Given the description of an element on the screen output the (x, y) to click on. 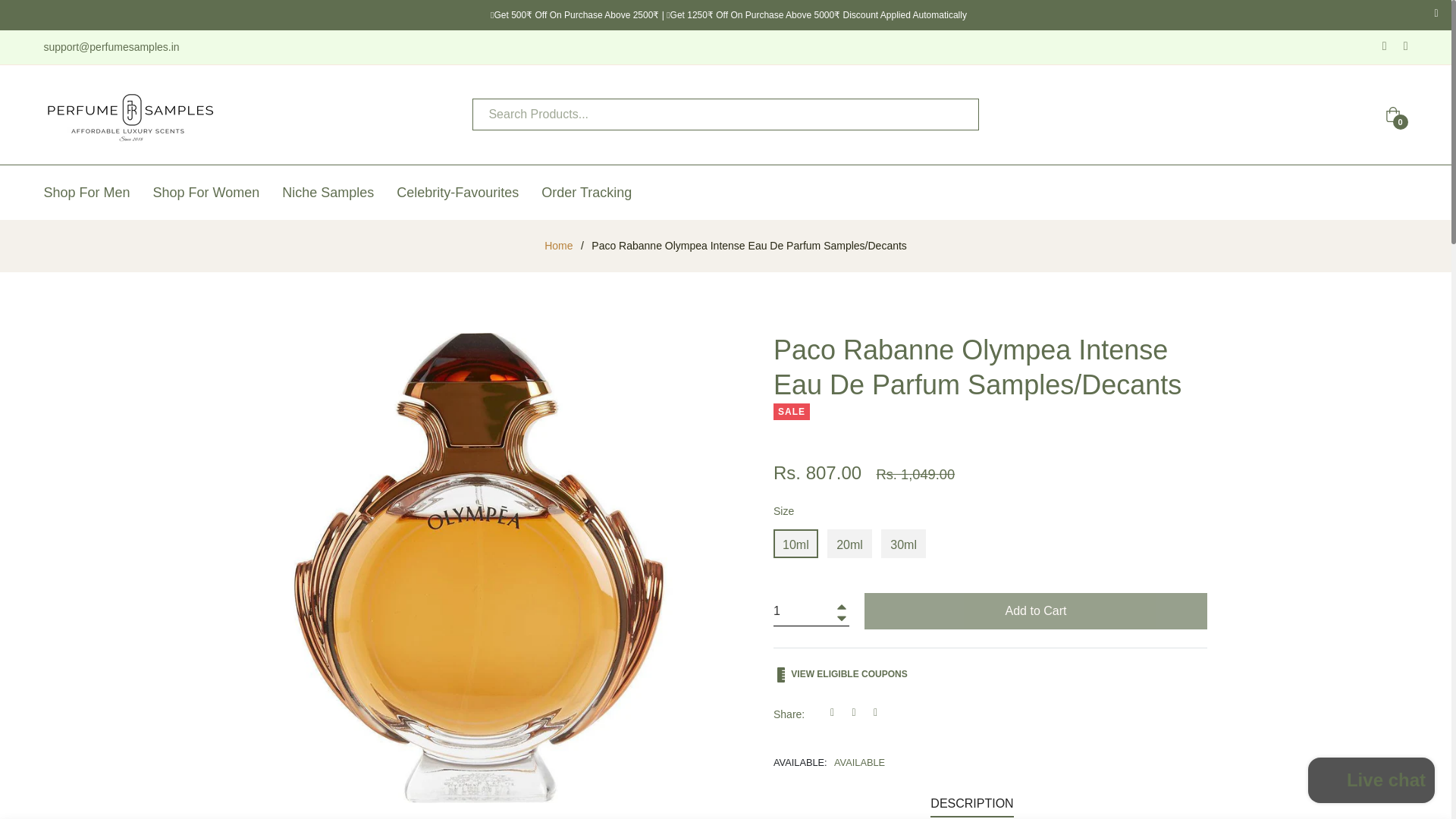
Share on Facebook (836, 711)
Fb (1379, 46)
Home (558, 245)
Ins (1400, 46)
Add to Cart (1035, 610)
Shop For Men (92, 192)
Tweet on Twitter (857, 711)
1 (810, 611)
Shopping Cart (1393, 113)
